Given the description of an element on the screen output the (x, y) to click on. 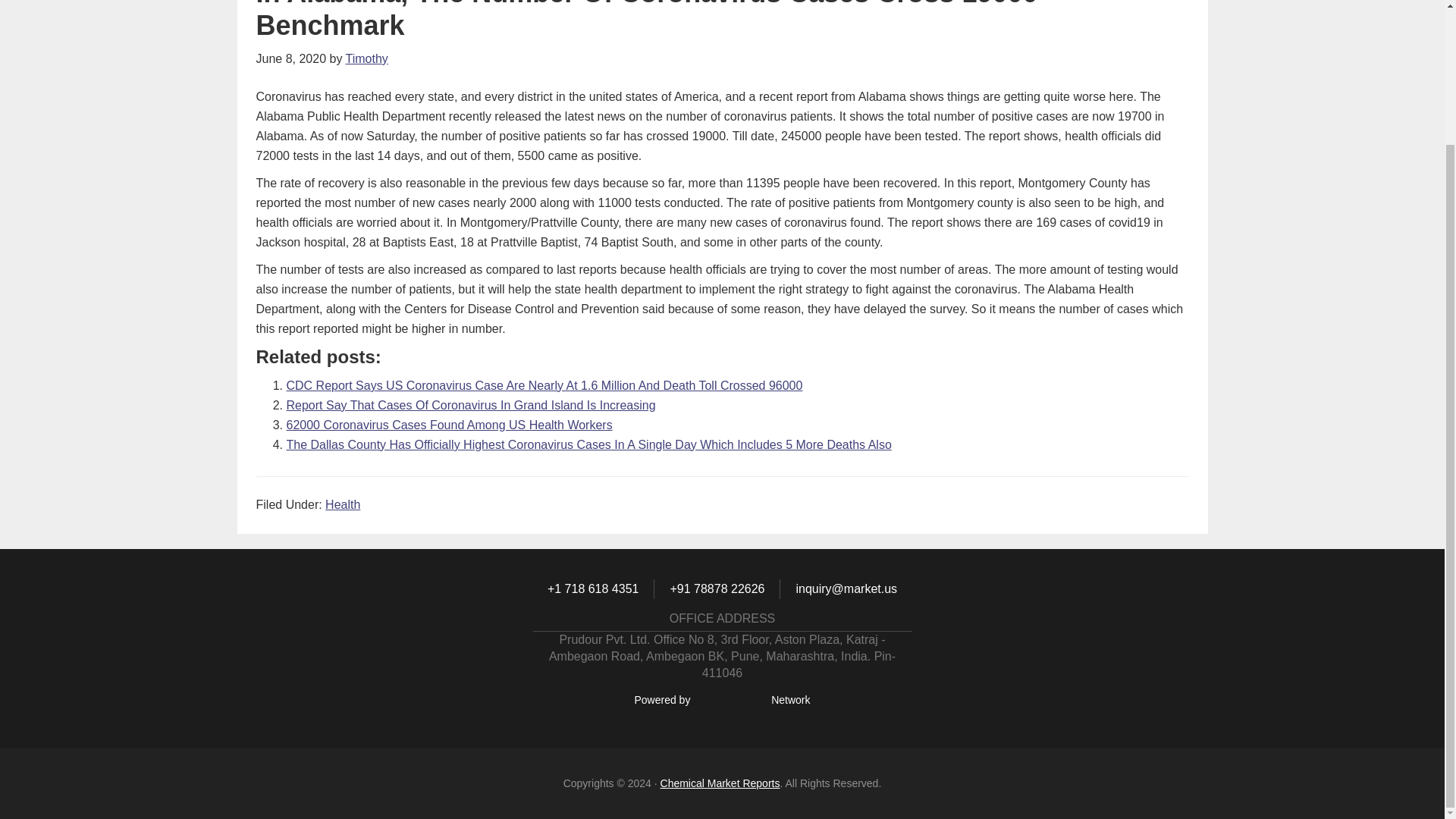
Timothy (367, 58)
Chemical Market Reports (720, 783)
Health (341, 504)
62000 Coronavirus Cases Found Among US Health Workers (449, 424)
62000 Coronavirus Cases Found Among US Health Workers (449, 424)
